Given the description of an element on the screen output the (x, y) to click on. 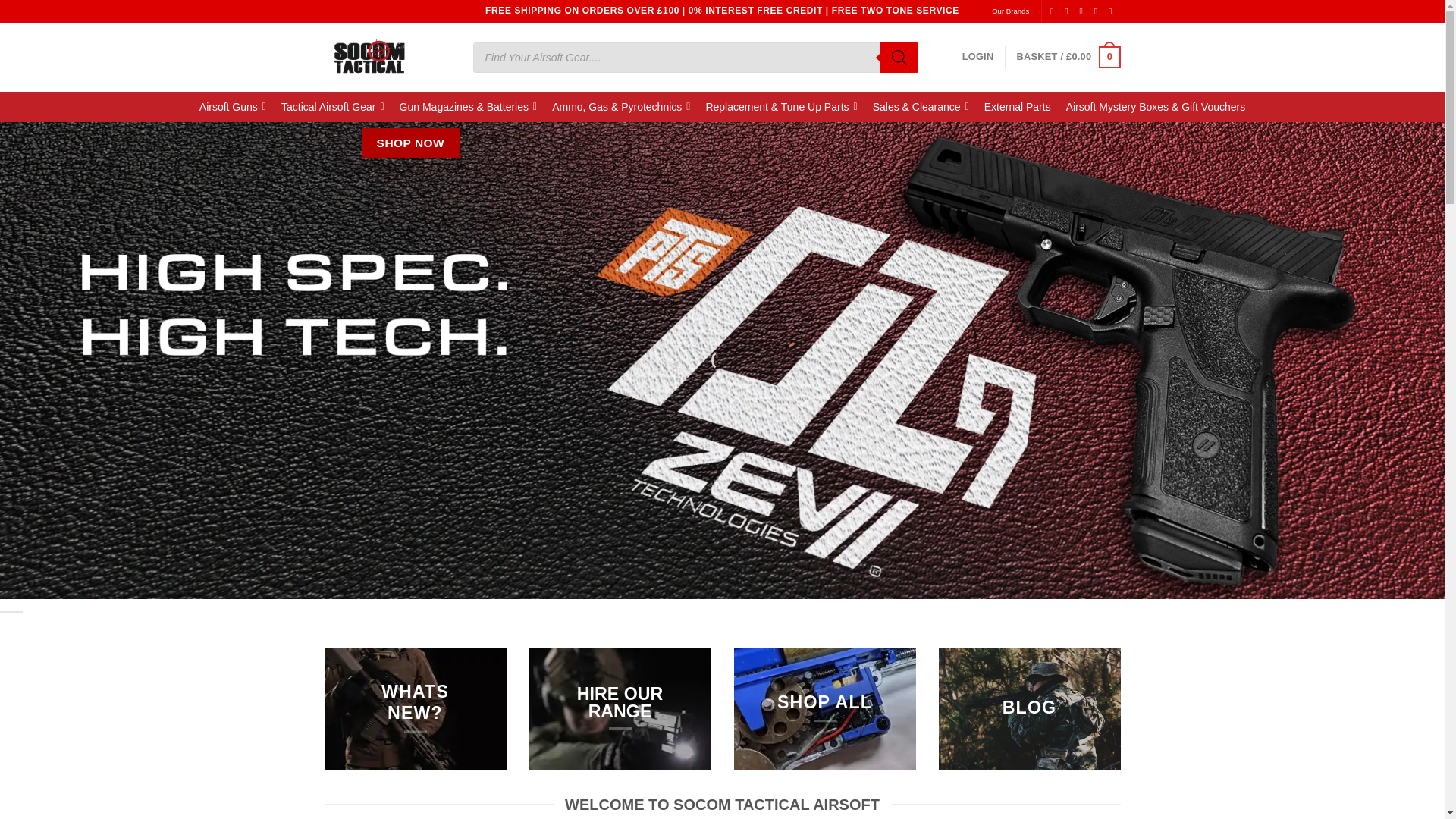
LOGIN (978, 56)
Basket (1067, 57)
Airsoft Guns (232, 106)
Our Brands (1010, 10)
Tactical Airsoft Gear (332, 106)
